Given the description of an element on the screen output the (x, y) to click on. 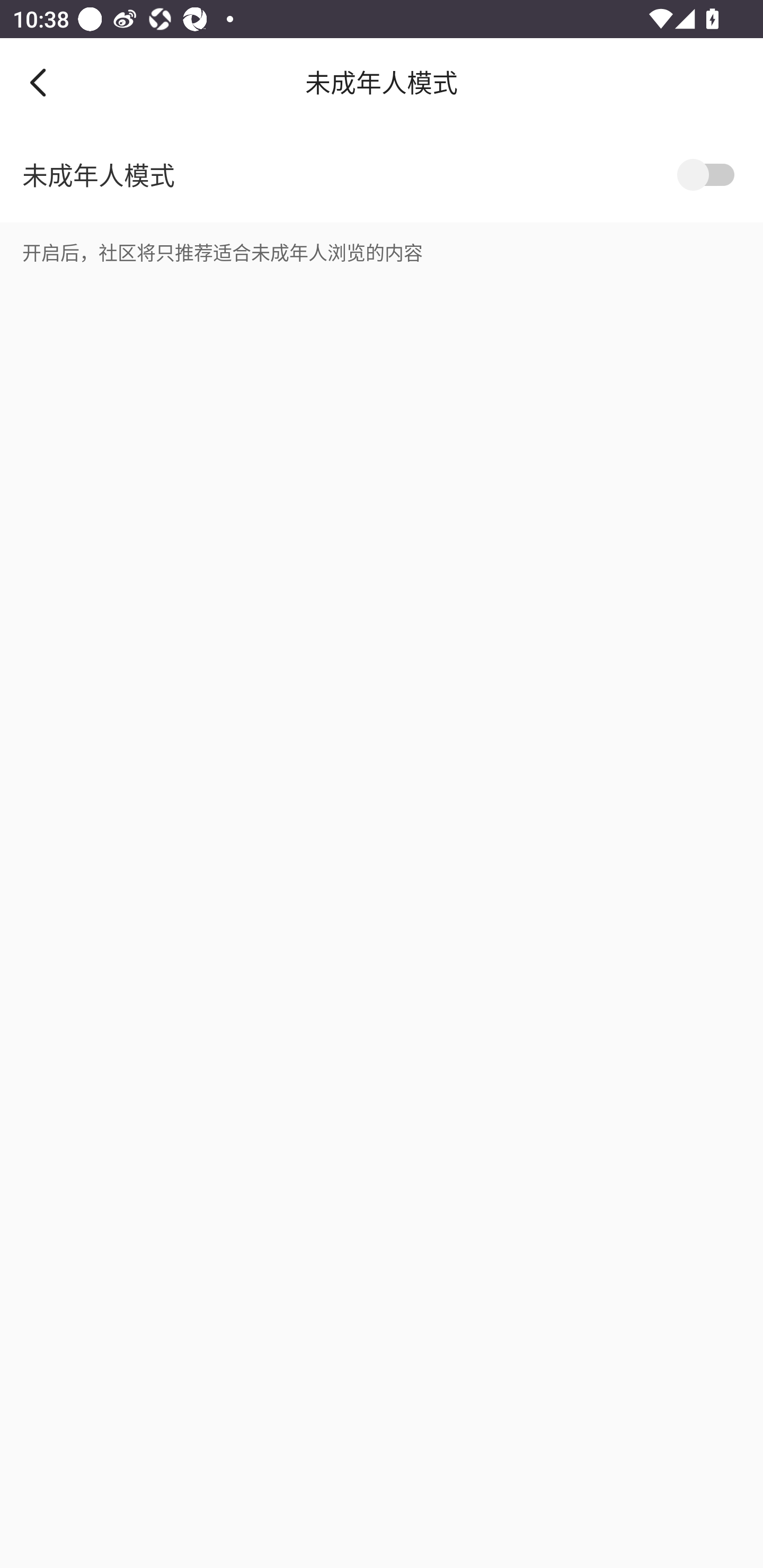
Left Button In Title Bar (50, 82)
OFF (708, 174)
